Given the description of an element on the screen output the (x, y) to click on. 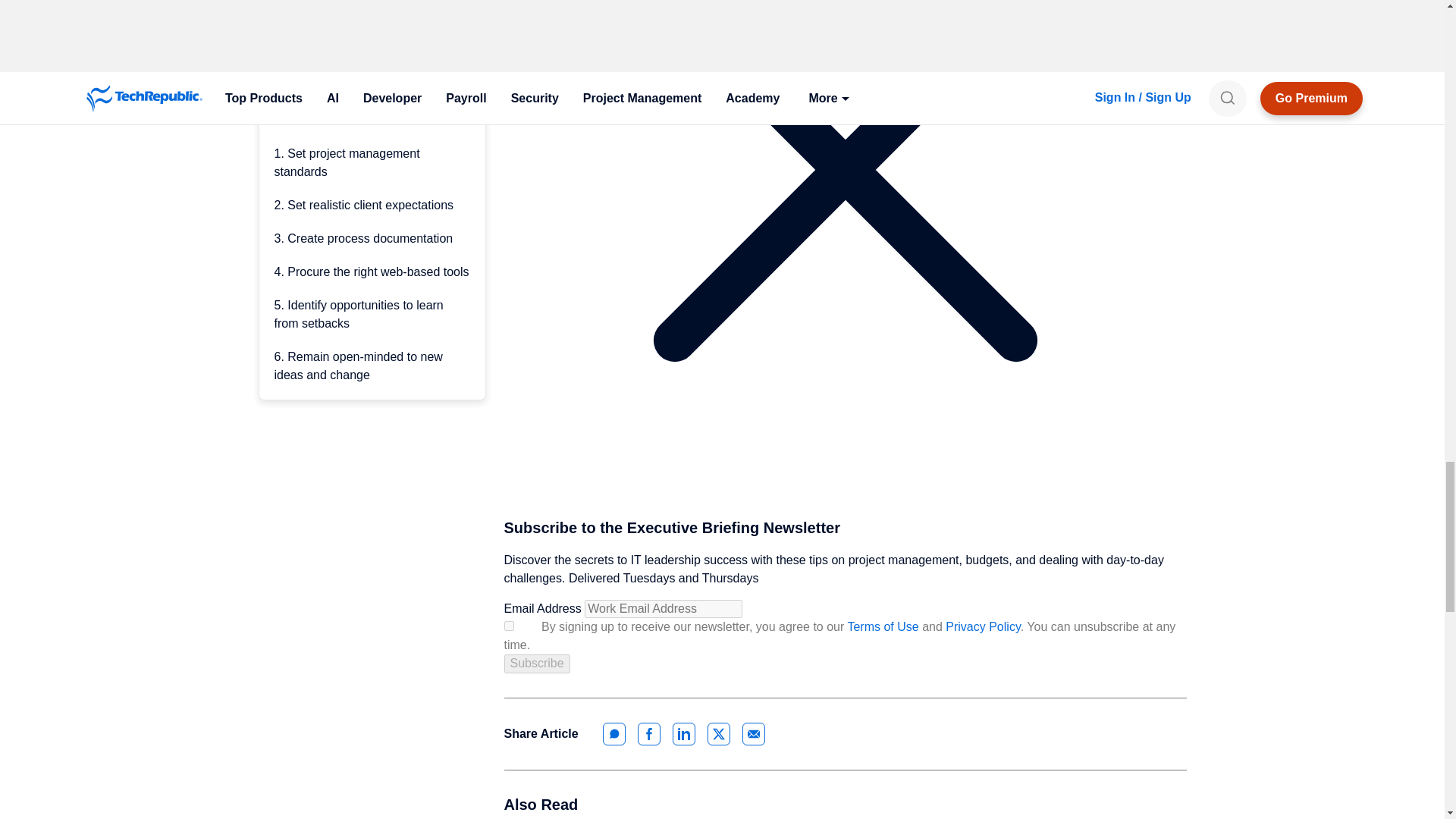
on (508, 625)
